Given the description of an element on the screen output the (x, y) to click on. 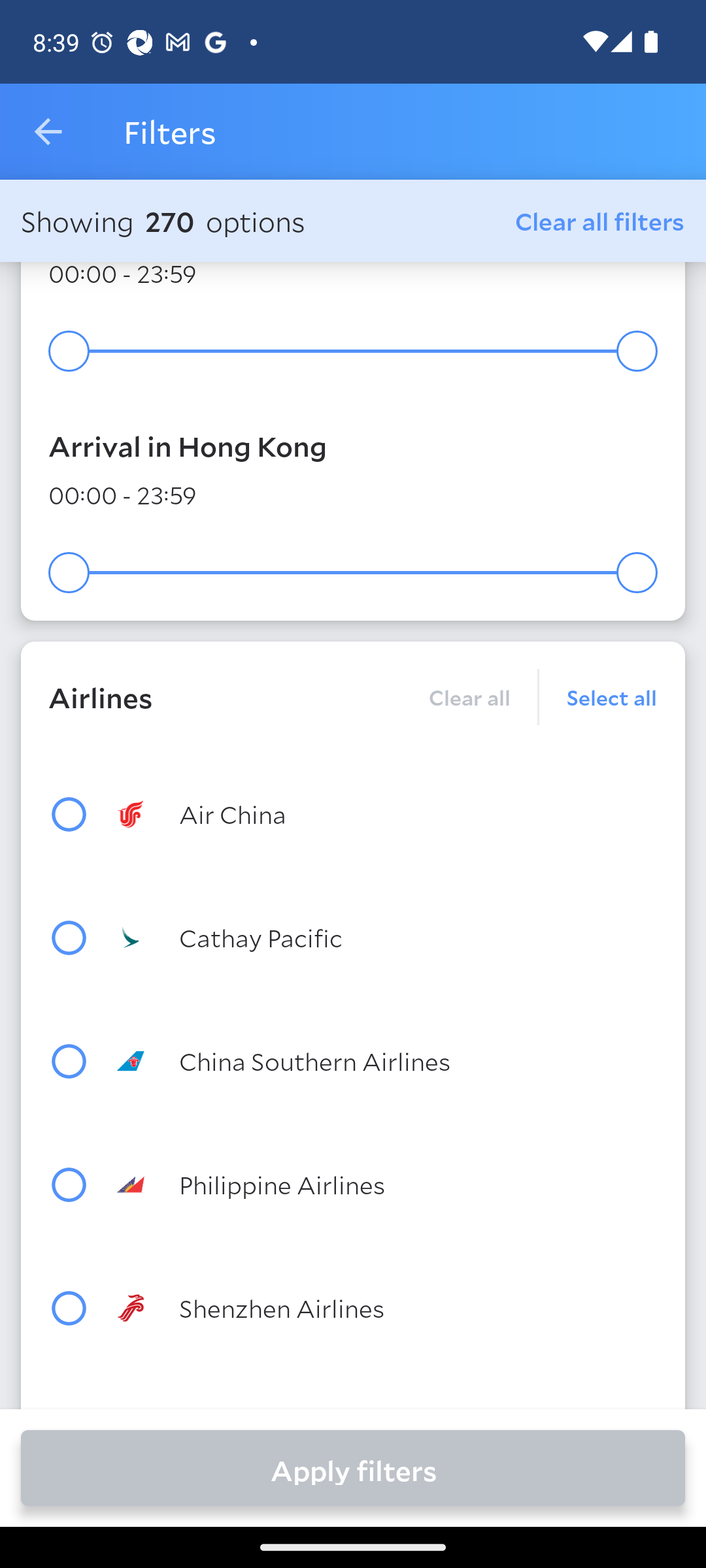
Navigate up (48, 131)
Clear all filters (599, 219)
Clear all (469, 696)
Select all (598, 696)
Air China (387, 814)
Cathay Pacific (387, 937)
China Southern Airlines (387, 1060)
Philippine Airlines (387, 1184)
Shenzhen Airlines (387, 1308)
Apply filters (352, 1467)
